Given the description of an element on the screen output the (x, y) to click on. 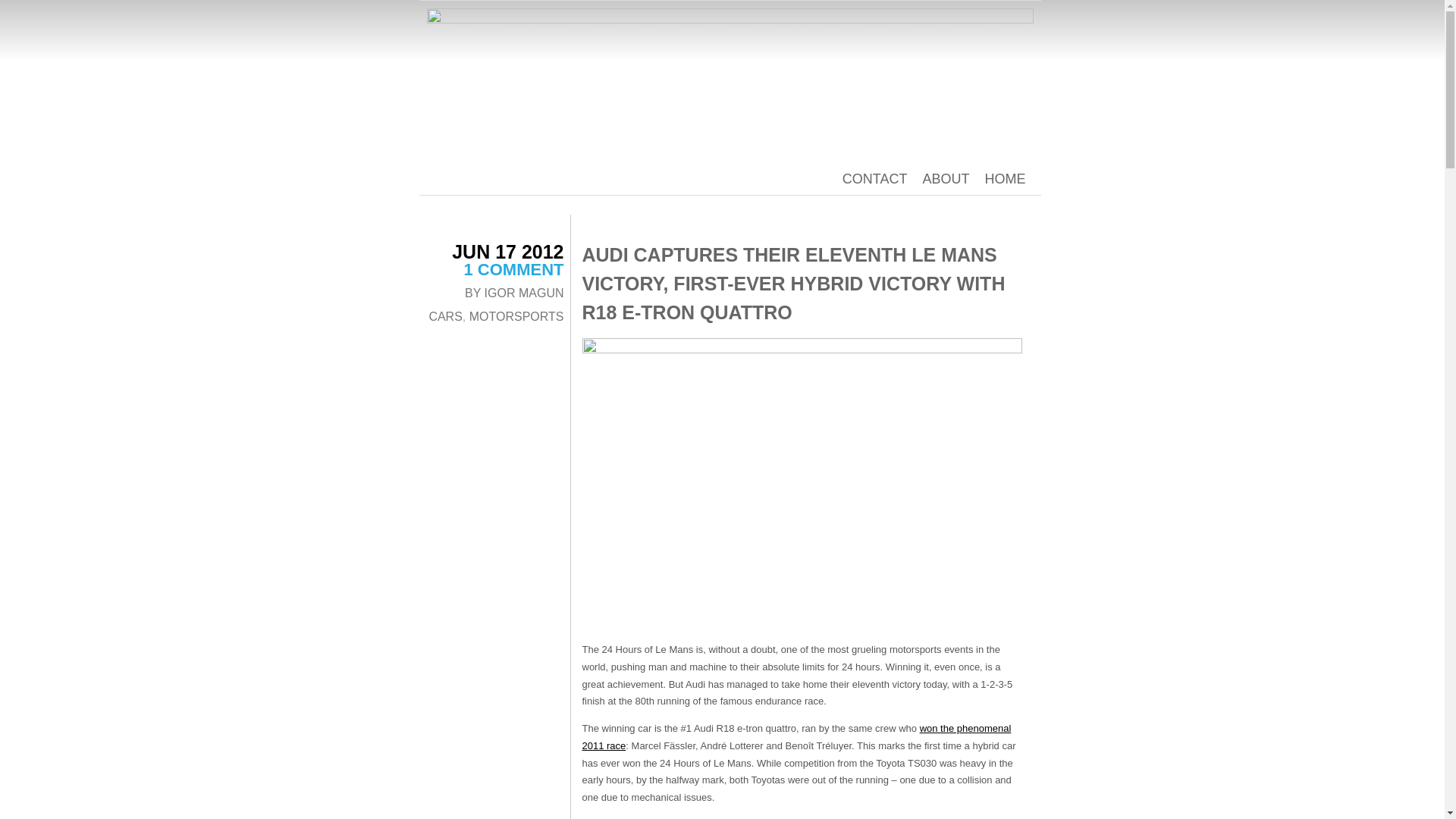
HOME (1004, 178)
Audi at the 2012 24 Hours of Le Mans (802, 484)
ABOUT (945, 178)
CONTACT (875, 178)
BY IGOR MAGUN (513, 292)
JUN 17 2012 (507, 251)
CARS (444, 316)
MOTORSPORTS (516, 316)
won the phenomenal 2011 race (796, 736)
1 COMMENT (514, 269)
